Given the description of an element on the screen output the (x, y) to click on. 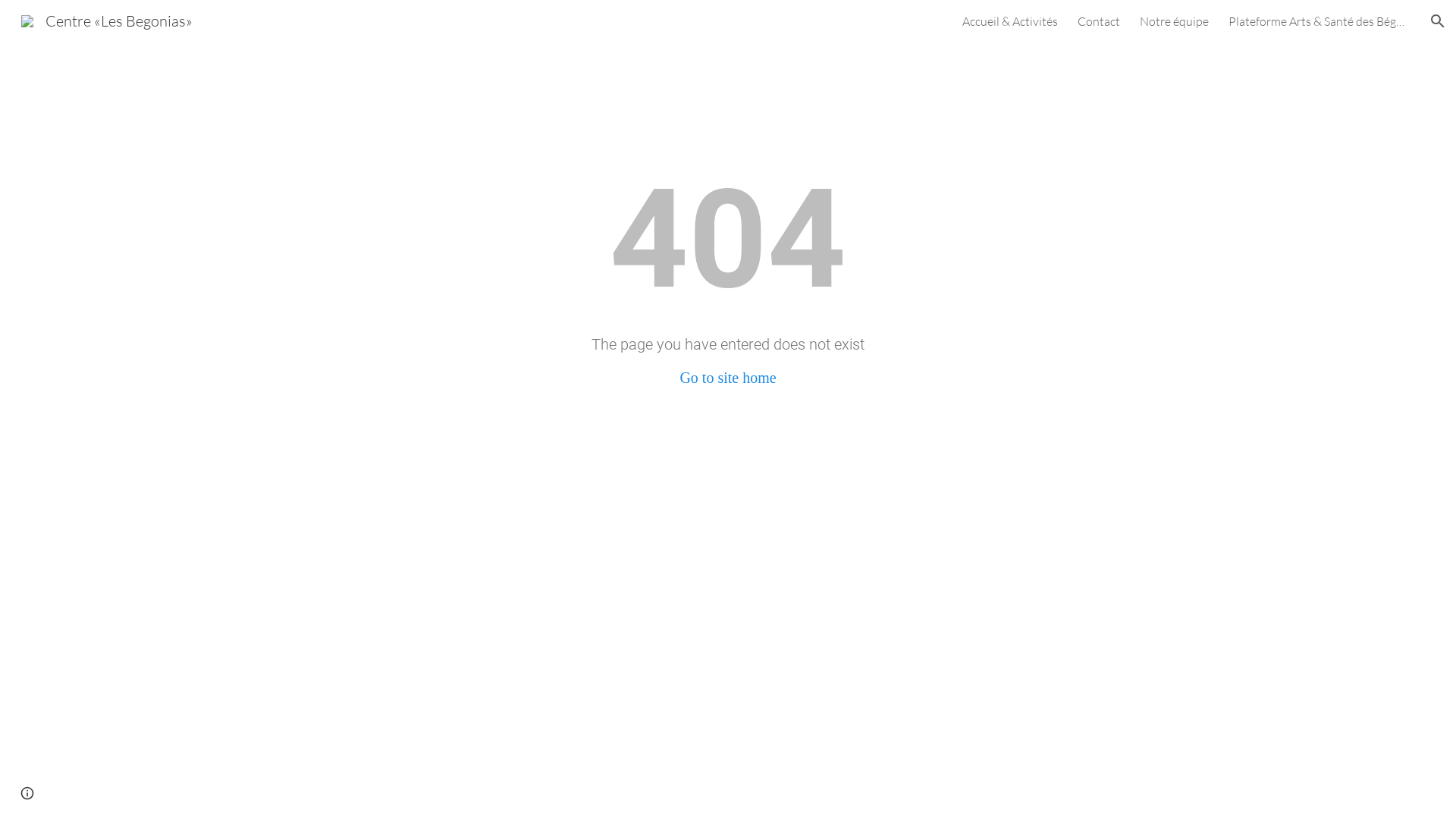
Contact Element type: text (1098, 20)
Go to site home Element type: text (727, 377)
